Given the description of an element on the screen output the (x, y) to click on. 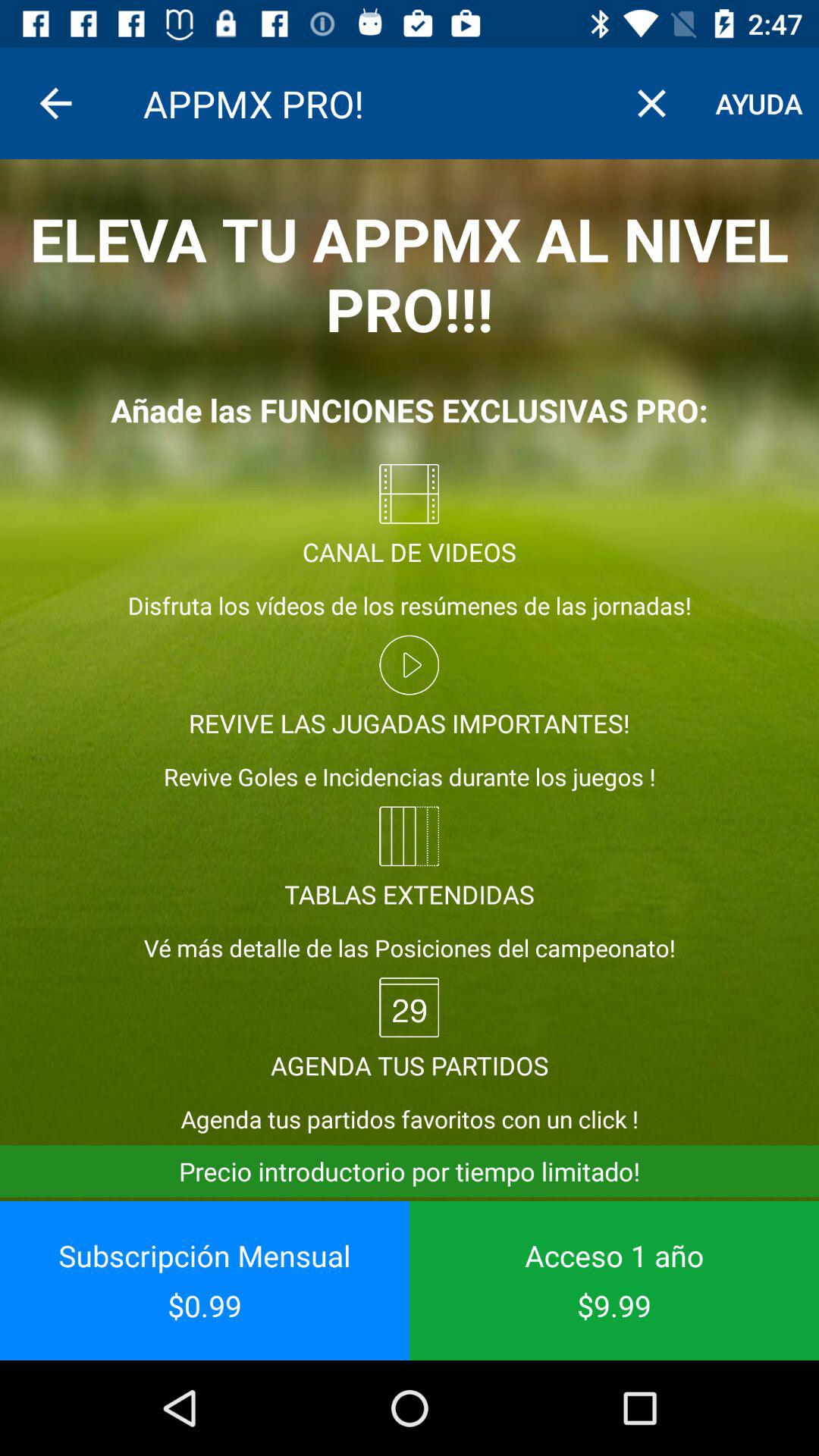
launch icon above the eleva tu appmx (759, 103)
